Given the description of an element on the screen output the (x, y) to click on. 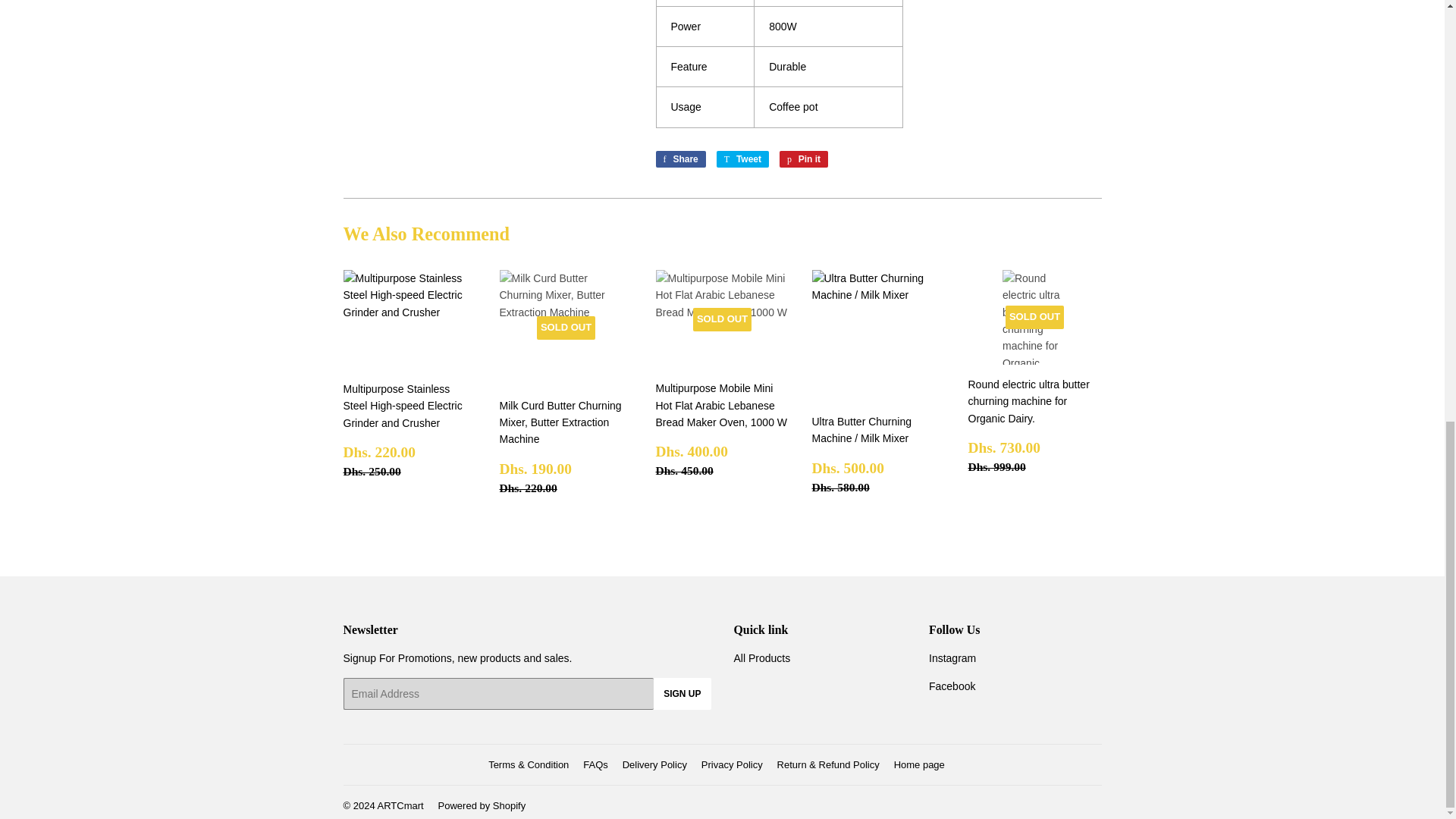
Tweet on Twitter (742, 158)
Pin on Pinterest (679, 158)
Share on Facebook (803, 158)
